Given the description of an element on the screen output the (x, y) to click on. 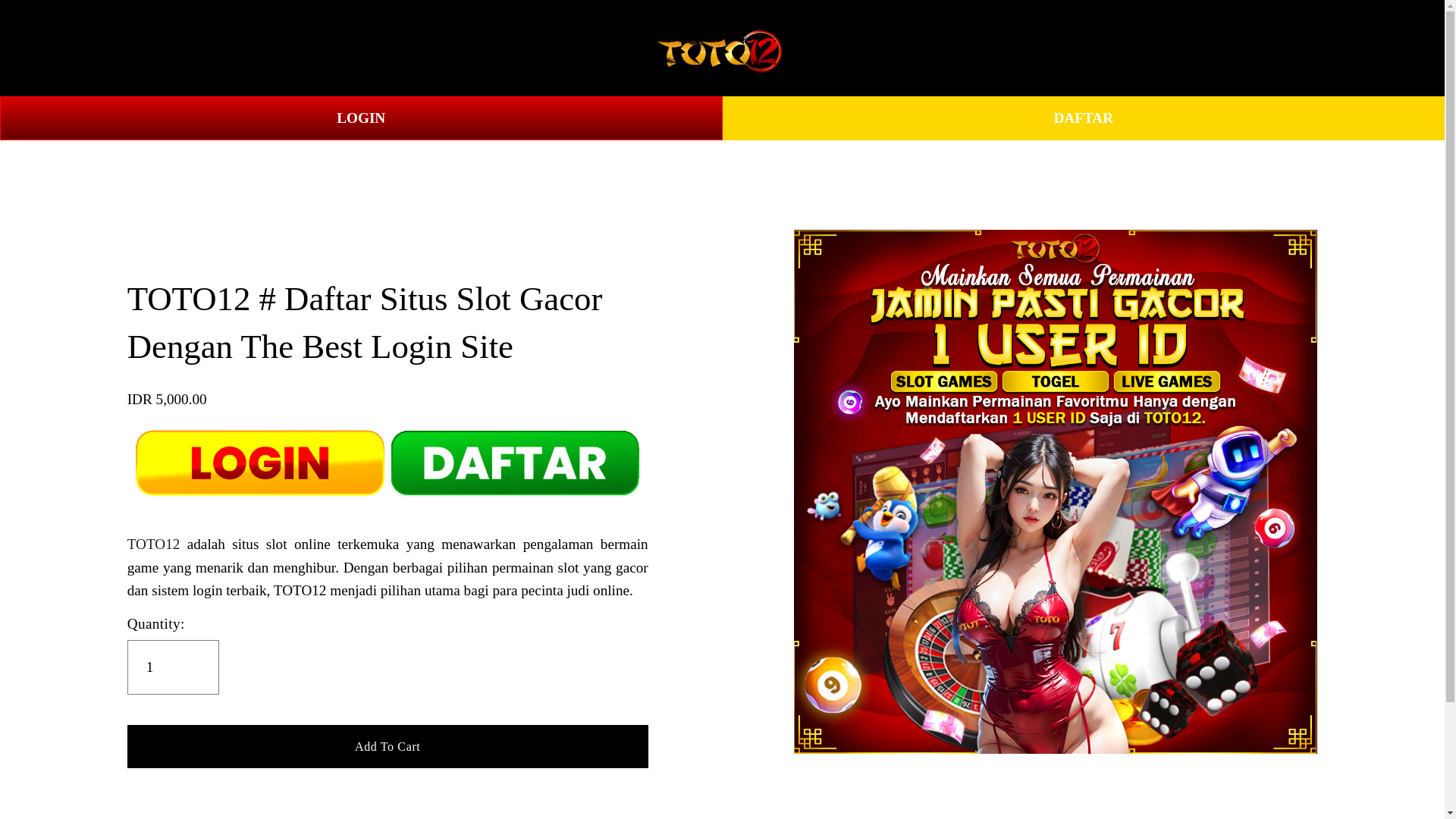
1 (173, 666)
TOTO12 (154, 544)
Store (59, 48)
Add To Cart (387, 745)
LOGIN (361, 118)
DAFTAR TOTO12 (253, 48)
TOTO12 (135, 48)
0 (1385, 47)
